Given the description of an element on the screen output the (x, y) to click on. 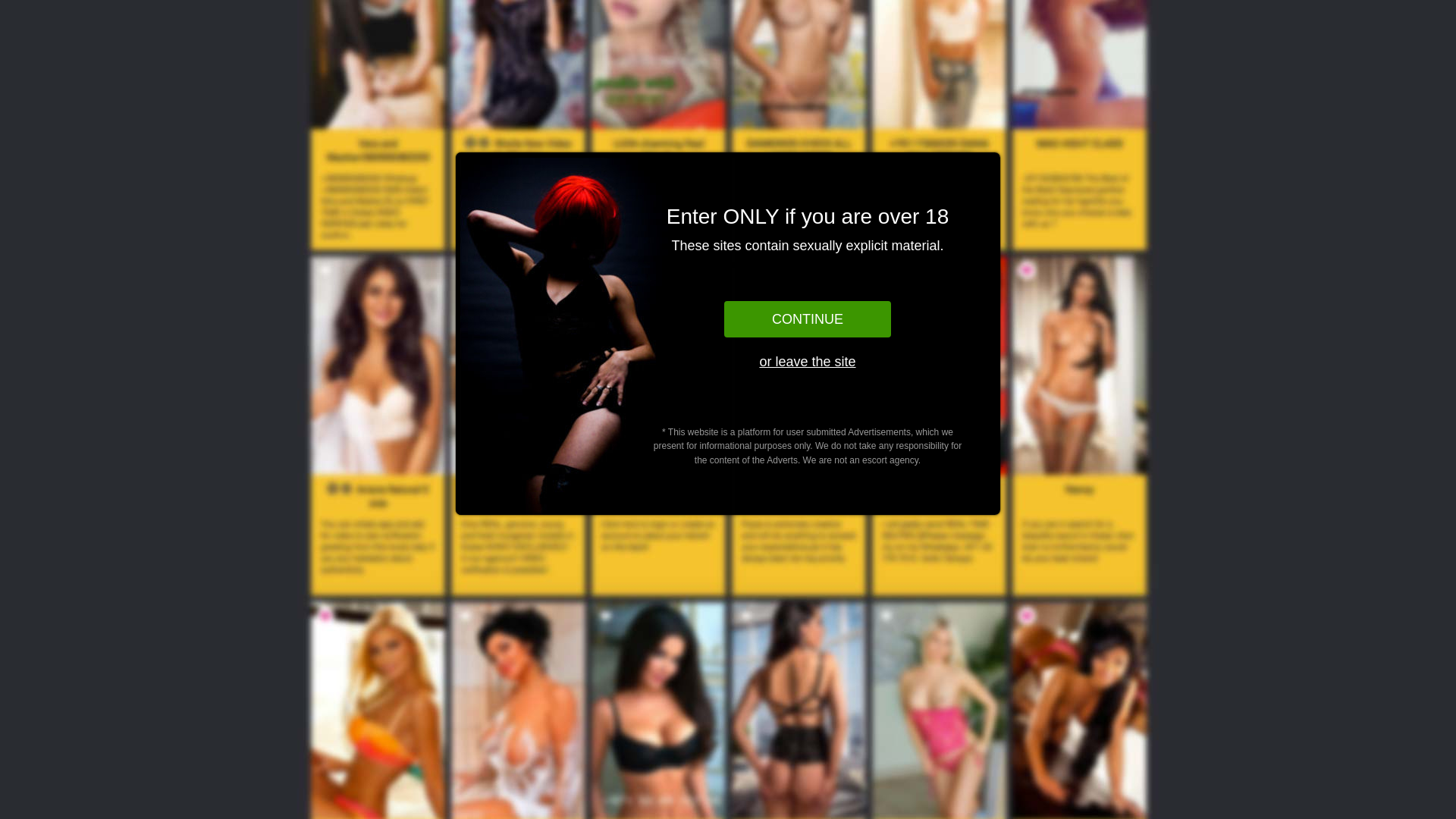
ok Element type: text (11, 25)
ABU DHABI
LoveHUB.com Element type: text (73, 22)
Britney Element type: text (376, 529)
ROXY FULL SERVICE Element type: text (657, 522)
AIZA ABSOLUTELY GORGEOUS Element type: text (938, 536)
JOIN SEX CLINIC Element type: text (938, 136)
or leave the site Element type: text (807, 362)
CONTINUE Element type: text (807, 319)
CLEOPATRA GIRLS Element type: text (797, 522)
AIZA SWEETEST GIRL ANAL Element type: text (1078, 529)
Relieve your
dick! Element type: text (517, 136)
MIRELLA SUPER SERVICE Element type: text (517, 529)
